Given the description of an element on the screen output the (x, y) to click on. 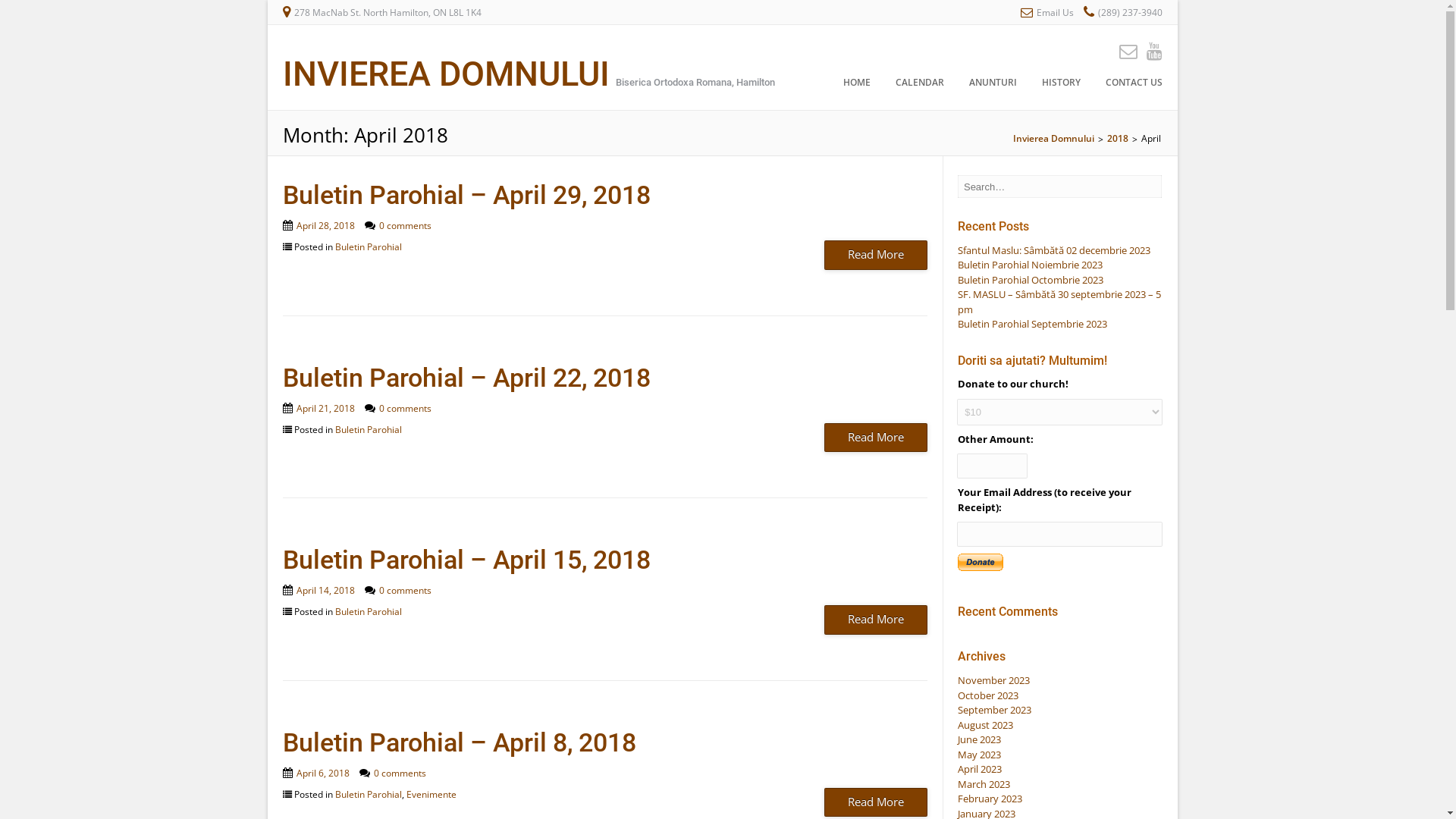
View our YouTube Channel Element type: hover (1149, 49)
April 28, 2018 Element type: text (324, 225)
CONTACT US Element type: text (1127, 86)
Buletin Parohial Septembrie 2023 Element type: text (1032, 323)
Invierea Domnului Element type: text (1053, 137)
Buletin Parohial Element type: text (368, 246)
April 21, 2018 Element type: text (324, 407)
November 2023 Element type: text (993, 680)
February 2023 Element type: text (989, 798)
INVIEREA DOMNULUI Element type: text (445, 73)
HOME Element type: text (856, 86)
Search for: Element type: hover (1000, 85)
April 2023 Element type: text (979, 768)
0 comments Element type: text (405, 225)
0 comments Element type: text (399, 771)
Buletin Parohial Octombrie 2023 Element type: text (1030, 279)
May 2023 Element type: text (979, 754)
Buletin Parohial Element type: text (368, 429)
October 2023 Element type: text (987, 695)
Search for: Element type: hover (1059, 186)
0 comments Element type: text (405, 407)
Read More Element type: text (875, 619)
April 6, 2018 Element type: text (321, 771)
CALENDAR Element type: text (919, 86)
September 2023 Element type: text (994, 709)
2018 Element type: text (1117, 137)
Read More Element type: text (875, 801)
Buletin Parohial Noiembrie 2023 Element type: text (1029, 264)
Buletin Parohial Element type: text (368, 611)
April 14, 2018 Element type: text (324, 589)
ANUNTURI Element type: text (992, 86)
August 2023 Element type: text (985, 724)
June 2023 Element type: text (979, 739)
Buletin Parohial Element type: text (368, 793)
Send Us an Email Element type: hover (1123, 49)
Read More Element type: text (875, 254)
Evenimente Element type: text (431, 793)
Other Amount Element type: hover (991, 465)
March 2023 Element type: text (983, 783)
HISTORY Element type: text (1060, 86)
Read More Element type: text (875, 437)
0 comments Element type: text (405, 589)
Email Us Element type: text (1054, 12)
